Given the description of an element on the screen output the (x, y) to click on. 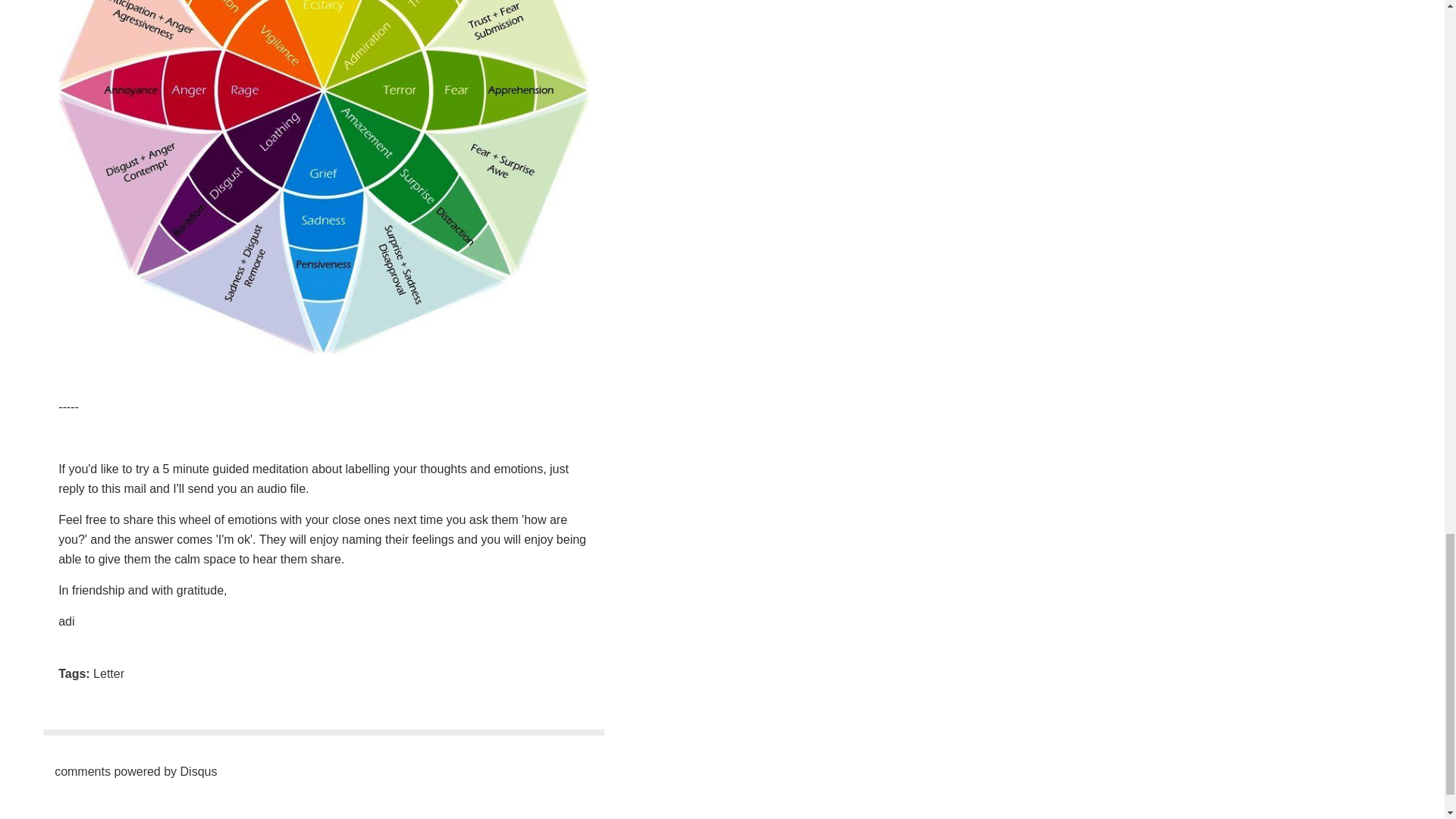
Letter (108, 673)
comments powered by Disqus (135, 771)
